Given the description of an element on the screen output the (x, y) to click on. 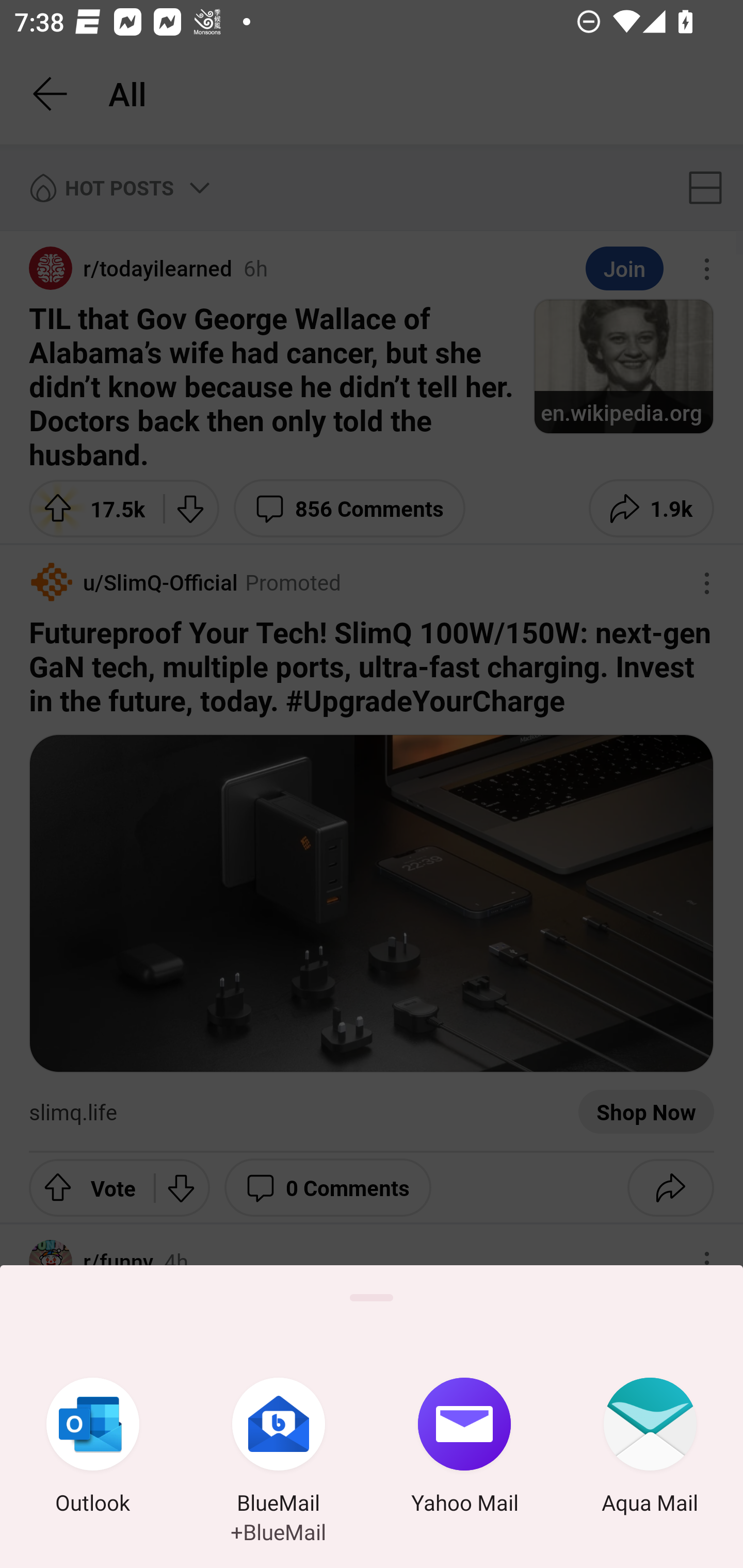
Outlook (92, 1448)
BlueMail +BlueMail (278, 1448)
Yahoo Mail (464, 1448)
Aqua Mail (650, 1448)
